Given the description of an element on the screen output the (x, y) to click on. 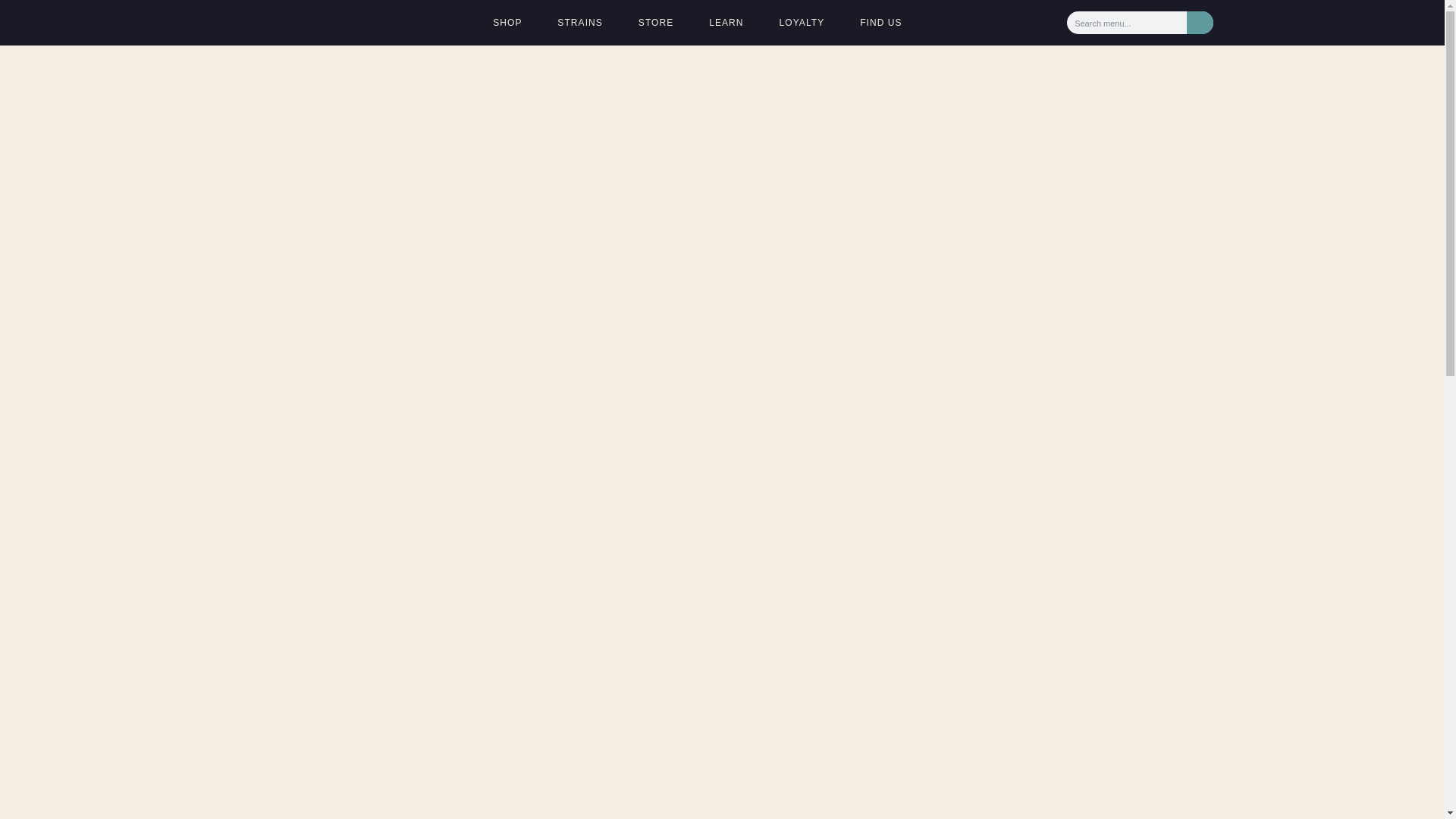
SHOP (508, 22)
